Given the description of an element on the screen output the (x, y) to click on. 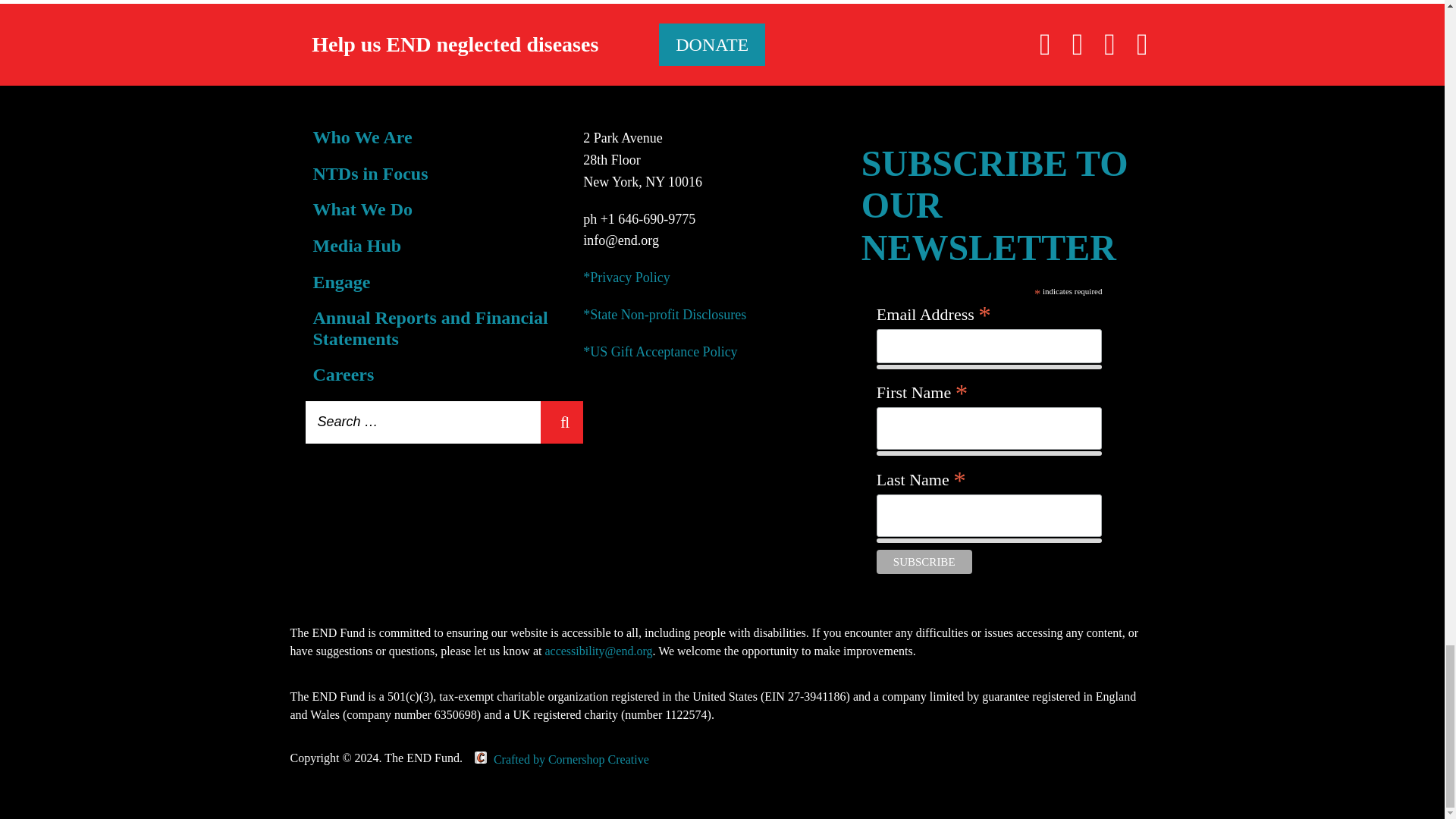
Who We Are (362, 137)
Engage (341, 281)
Careers (343, 374)
Subscribe (924, 561)
DONATE (712, 44)
Search (561, 422)
What We Do (362, 209)
Subscribe (924, 561)
Annual Reports and Financial Statements (430, 327)
Search (561, 422)
